Given the description of an element on the screen output the (x, y) to click on. 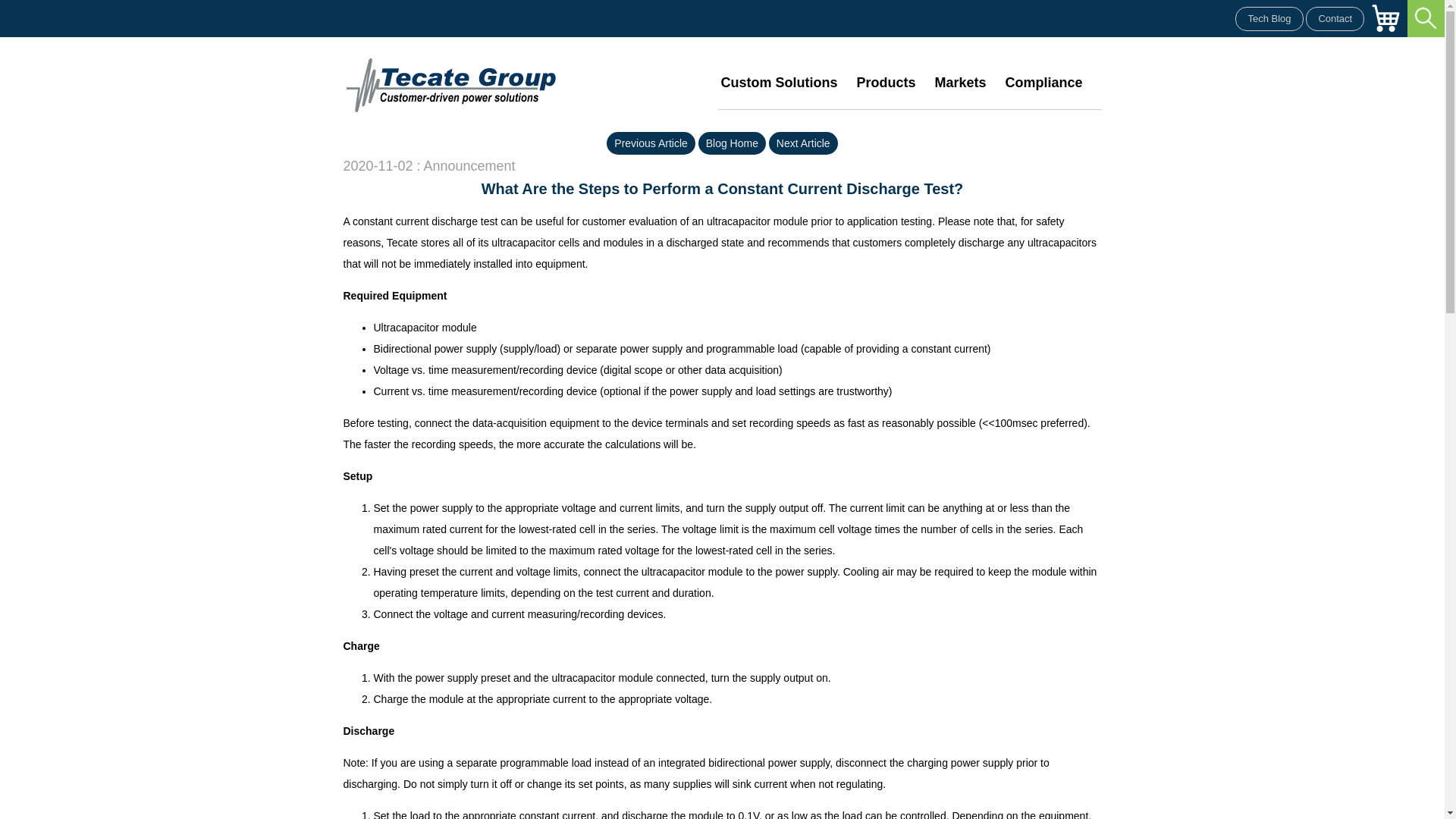
Products (885, 82)
Compliance (1042, 82)
Tech Blog (1268, 18)
Markets (959, 82)
Contact (1335, 18)
Blog Home (731, 142)
Next Article (803, 142)
Previous Article (650, 142)
Custom Solutions (778, 82)
